Given the description of an element on the screen output the (x, y) to click on. 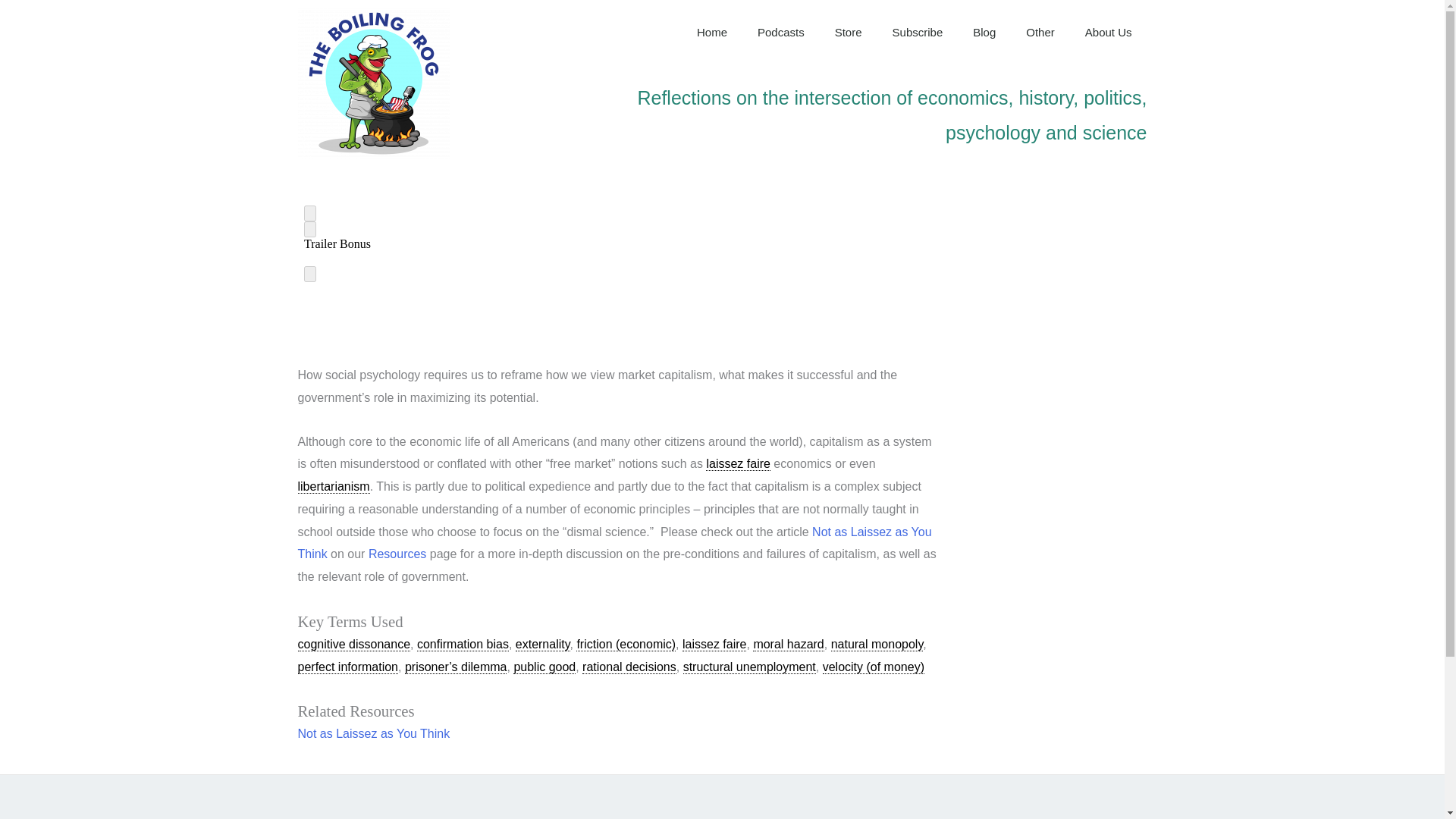
public good (544, 667)
Podcasts (780, 32)
rational decisions (629, 667)
cognitive dissonance (353, 644)
Store (848, 32)
Resources (397, 553)
Home (711, 32)
libertarianism (333, 486)
laissez faire (738, 463)
laissez faire (713, 644)
